Given the description of an element on the screen output the (x, y) to click on. 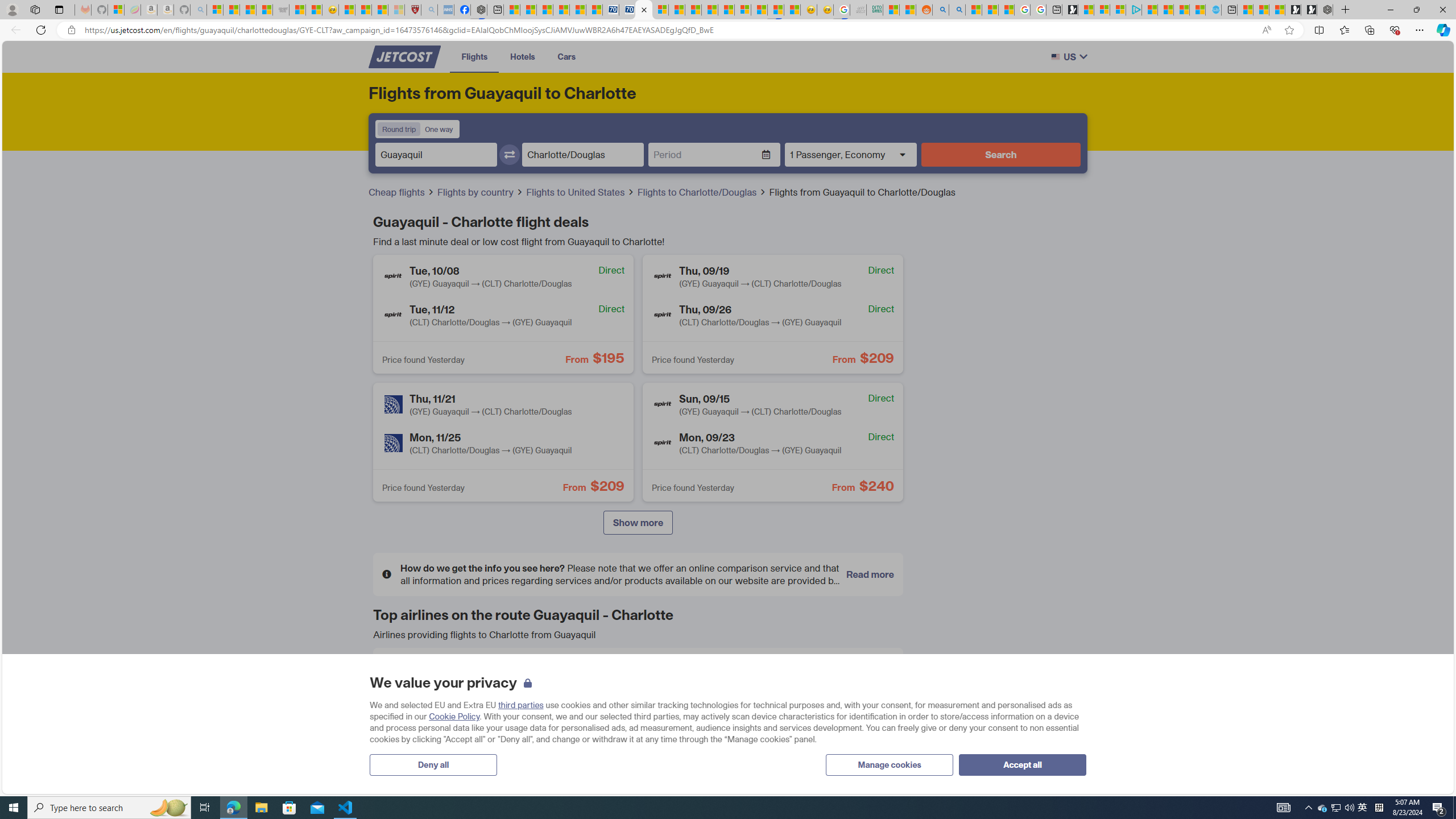
Flights by country (475, 191)
Cars (566, 56)
Flights from Guayaquil to Charlotte/Douglas (861, 191)
Show more (637, 522)
Departure place (436, 154)
LATAM LATAM (638, 716)
